Given the description of an element on the screen output the (x, y) to click on. 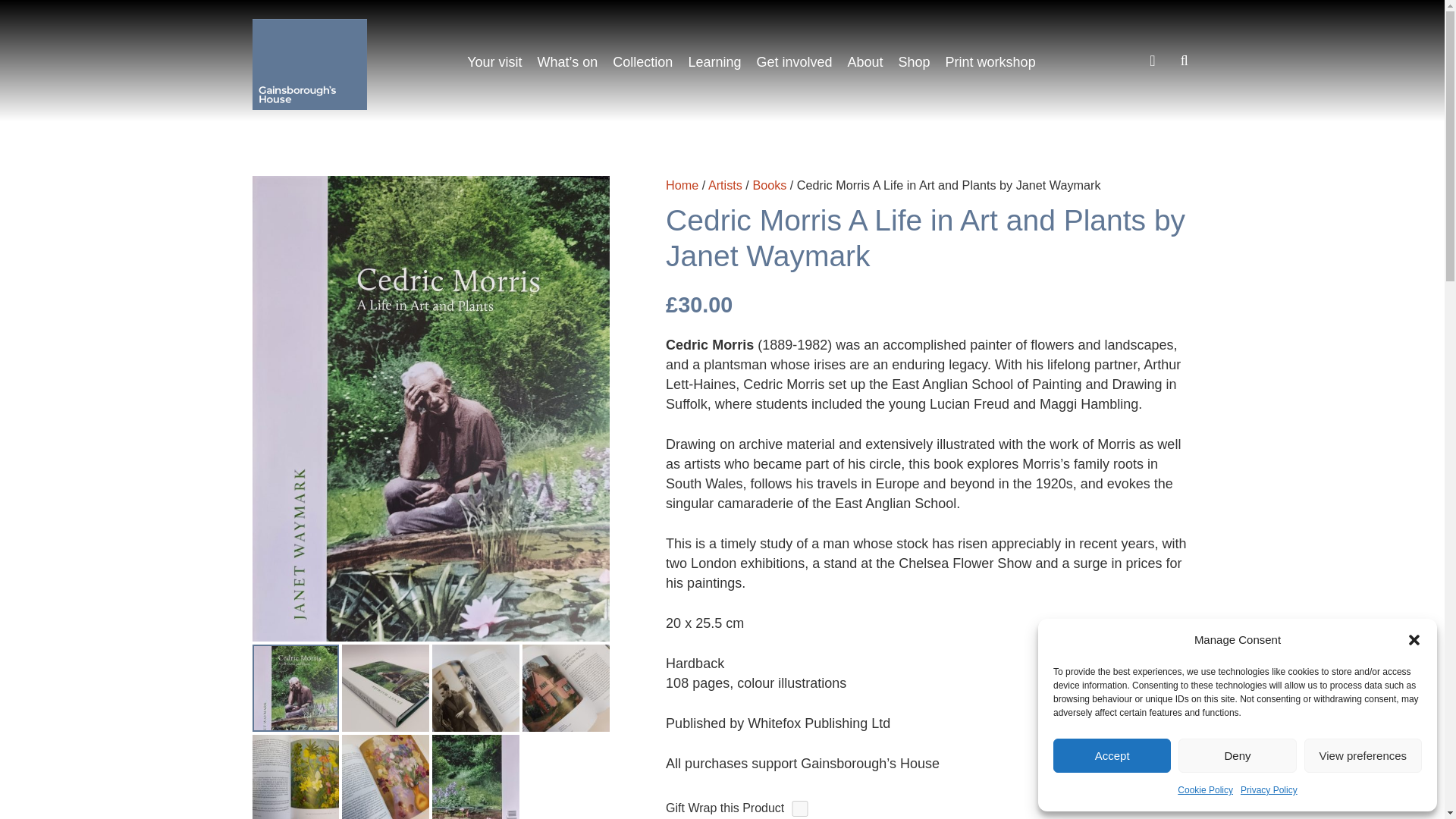
Cookie Policy (1205, 790)
on (800, 808)
Your visit (494, 62)
Collection (642, 62)
View preferences (1363, 755)
Privacy Policy (1268, 790)
Accept (1111, 755)
Deny (1236, 755)
